Given the description of an element on the screen output the (x, y) to click on. 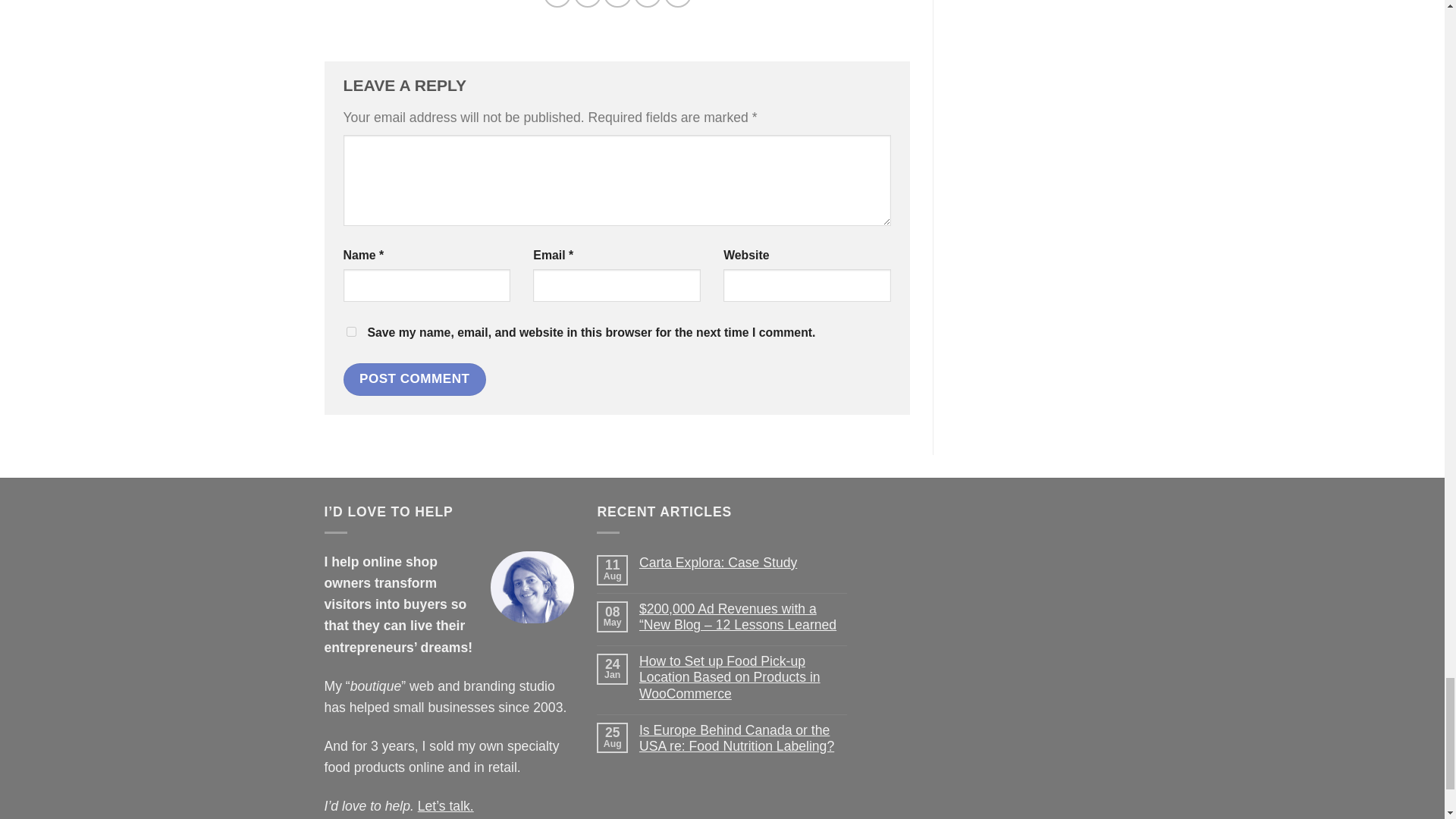
Email to a Friend (617, 3)
Share on Facebook (556, 3)
yes (350, 331)
Share on Twitter (587, 3)
Pin on Pinterest (647, 3)
Share on LinkedIn (677, 3)
Post Comment (413, 379)
